Given the description of an element on the screen output the (x, y) to click on. 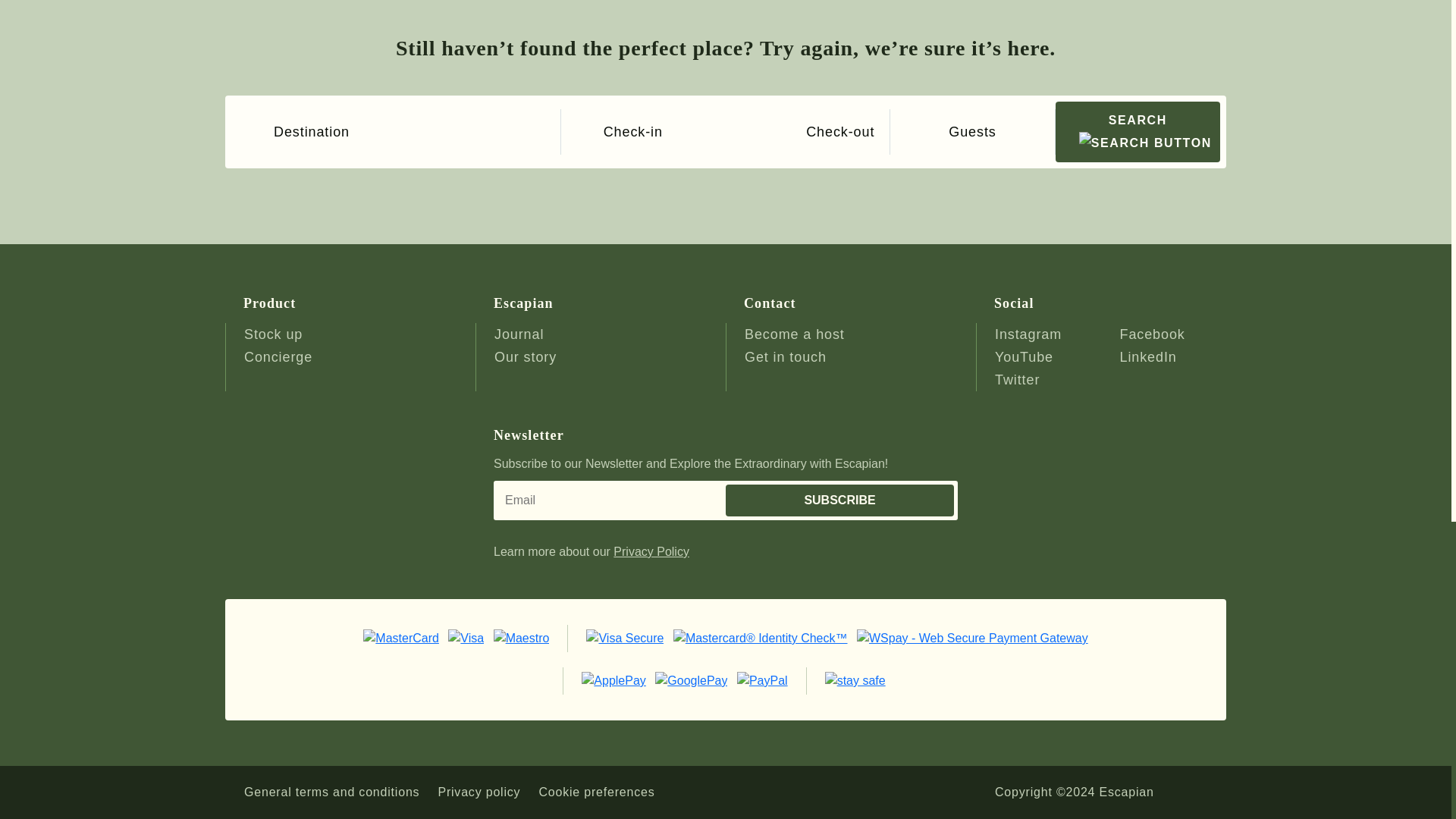
Visa Secure (624, 636)
Facebook (1152, 334)
YouTube (1023, 356)
Visa (465, 636)
PayPal (855, 679)
GooglePay (691, 679)
LinkedIn (1147, 356)
MasterCard (400, 636)
Twitter (1016, 379)
PayPal (761, 679)
